Given the description of an element on the screen output the (x, y) to click on. 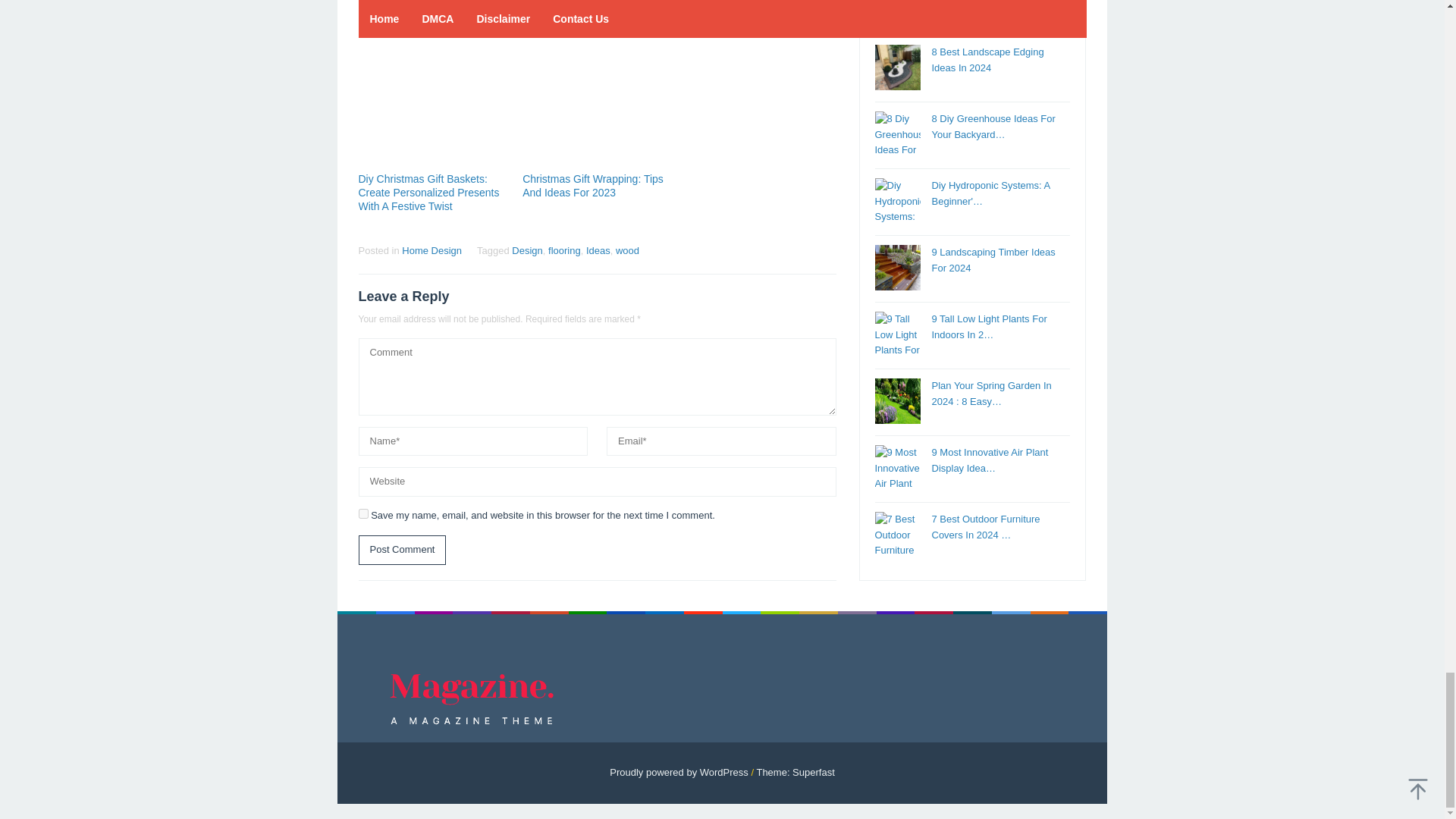
Design (526, 250)
Christmas Gift Wrapping: Tips And Ideas For 2023 (592, 185)
flooring (564, 250)
Proudly powered by WordPress (679, 772)
wood (627, 250)
Ideas (598, 250)
Post Comment (401, 550)
